Given the description of an element on the screen output the (x, y) to click on. 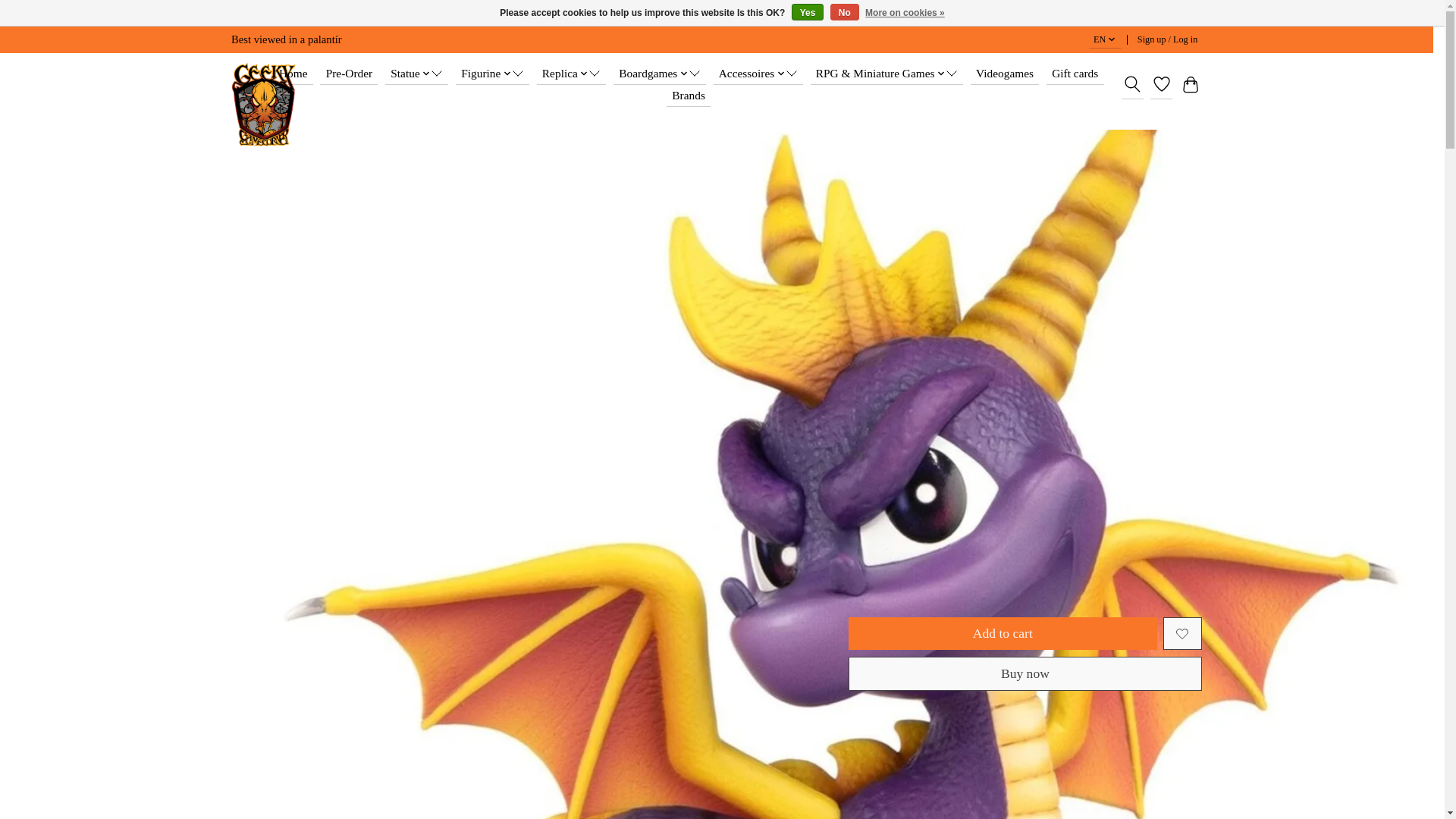
1 (937, 581)
Pre-Order (348, 73)
Home (293, 73)
Statue (416, 73)
My account (1167, 39)
EN (1105, 39)
